Given the description of an element on the screen output the (x, y) to click on. 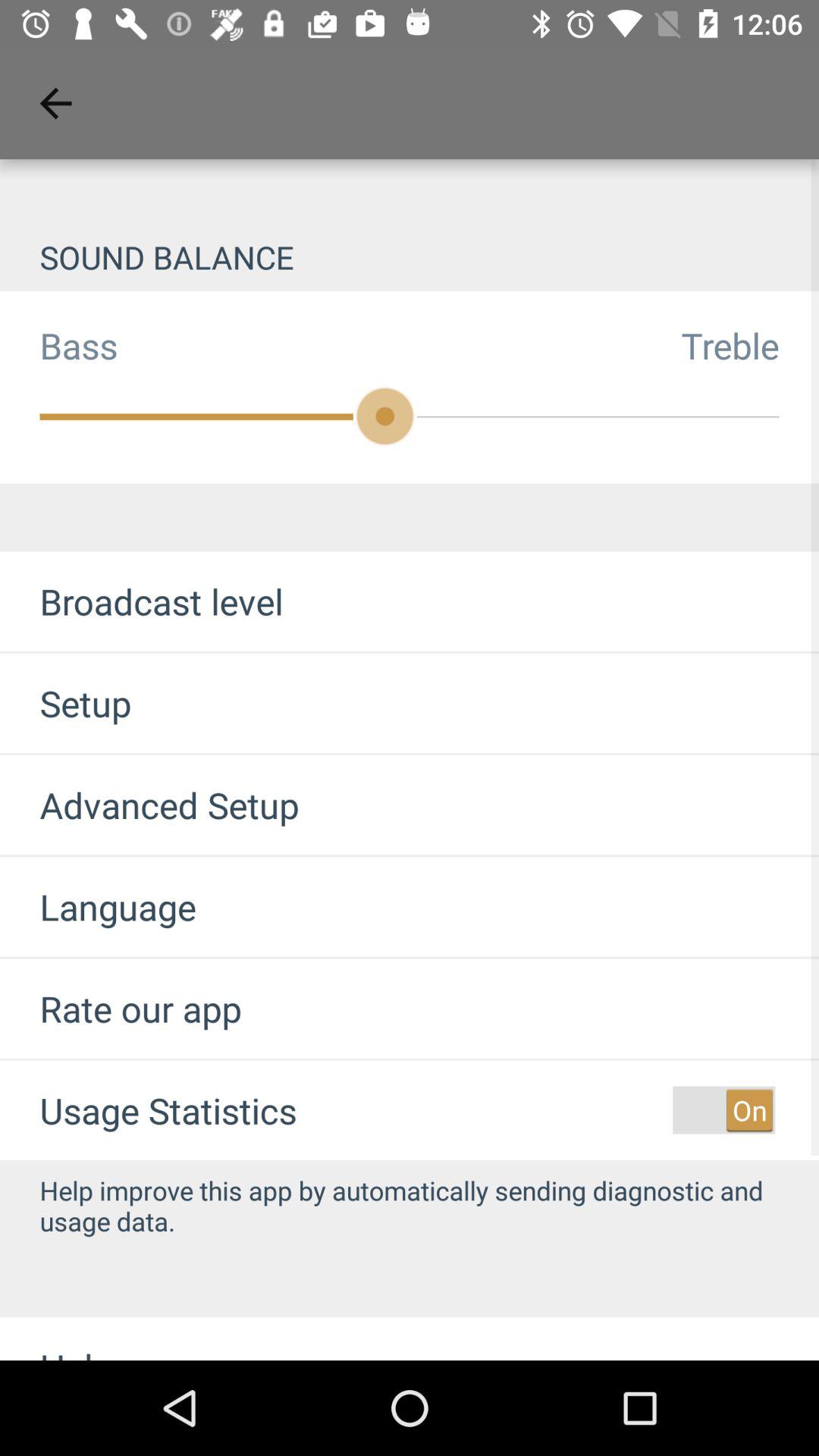
toggle on/off (723, 1110)
